Given the description of an element on the screen output the (x, y) to click on. 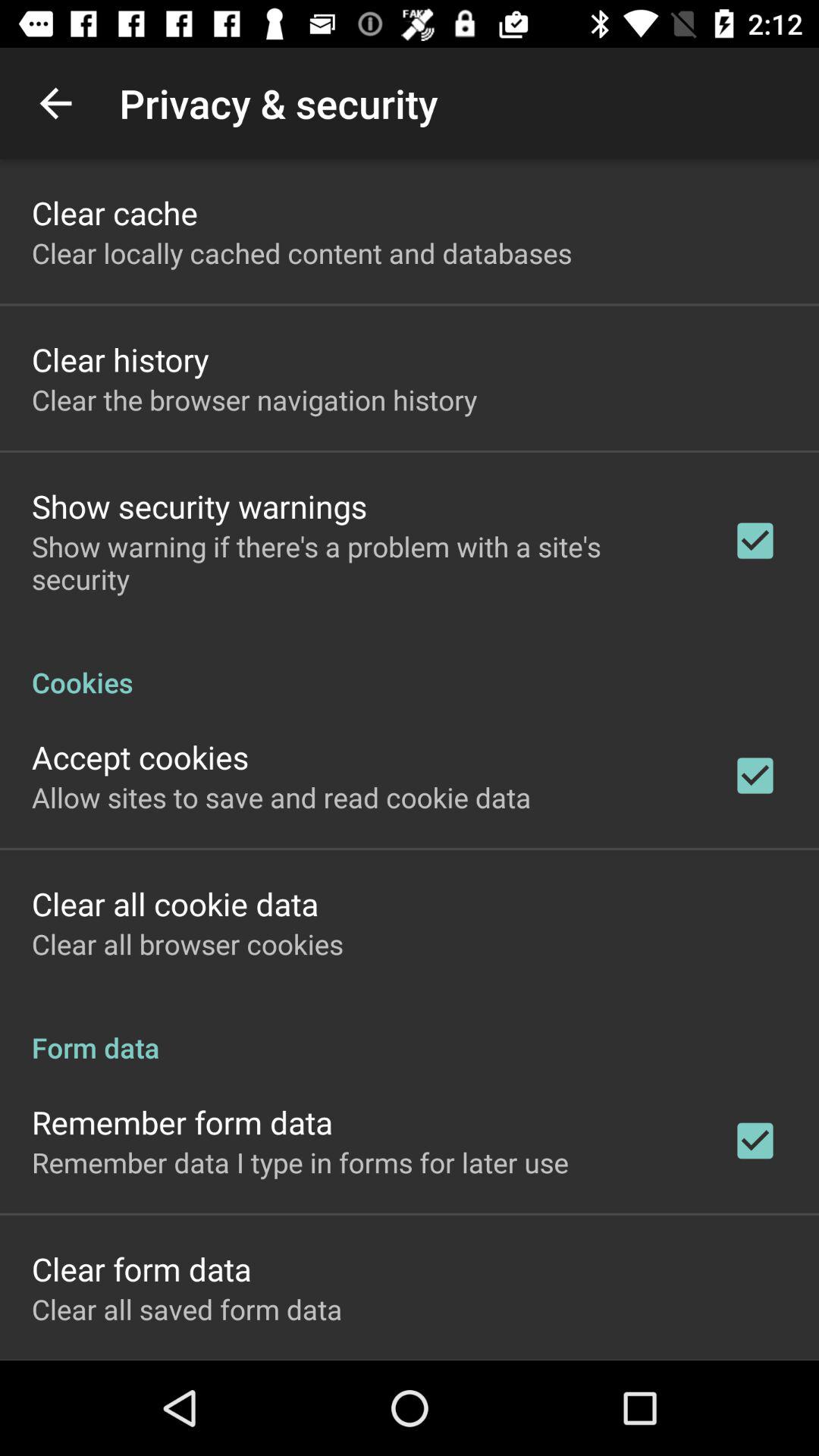
turn off icon above the clear locally cached icon (114, 212)
